Given the description of an element on the screen output the (x, y) to click on. 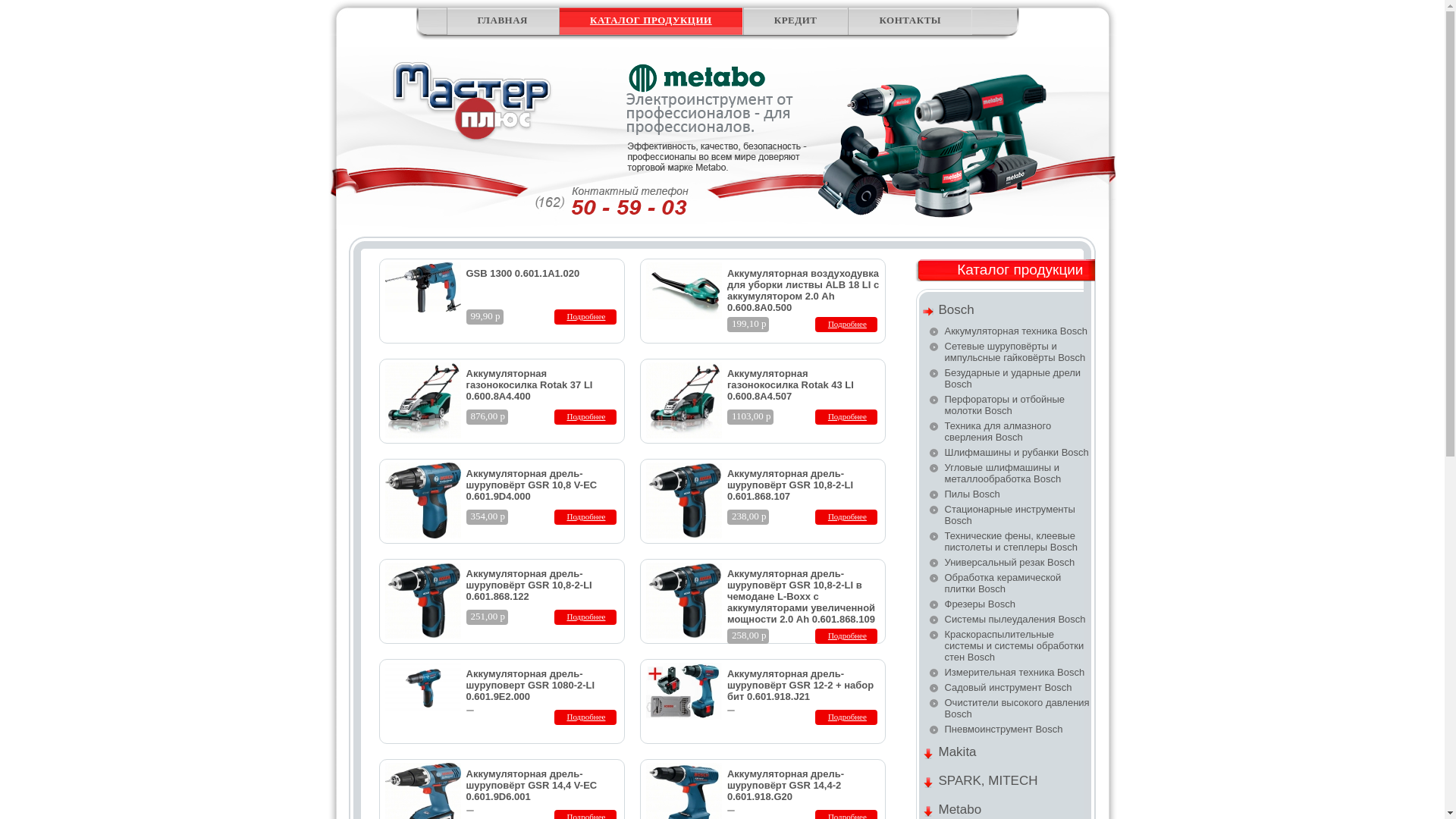
SPARK, MITECH Element type: text (1006, 781)
Bosch Element type: text (1006, 310)
GSB 1300 0.601.1A1.020 Element type: text (522, 273)
Makita Element type: text (1006, 752)
GSB 1300 0.601.1A1.020 Element type: hover (423, 308)
